Given the description of an element on the screen output the (x, y) to click on. 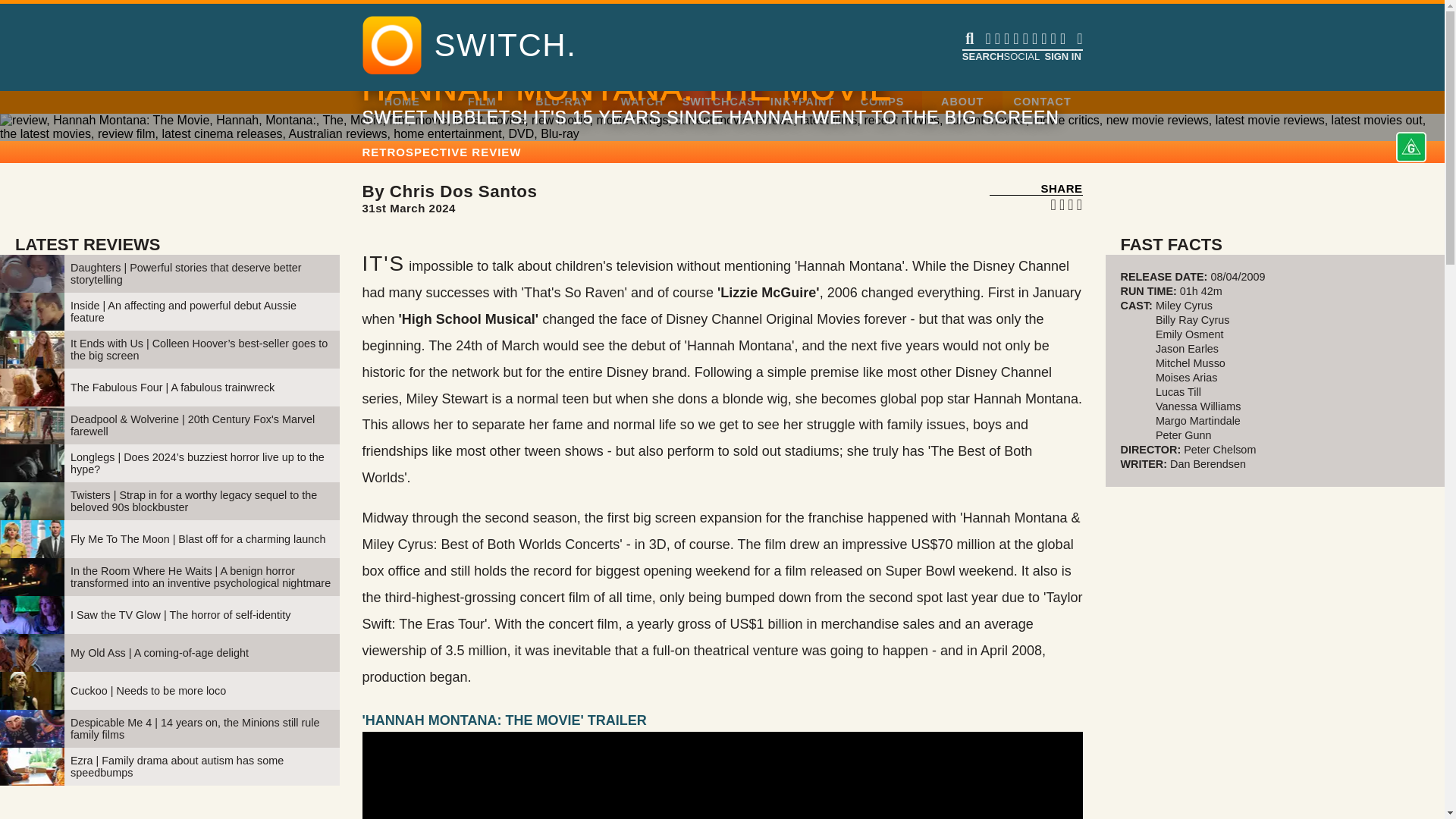
SWITCH. (504, 45)
FILM (481, 102)
HOME (402, 101)
SIGN IN (771, 199)
SWITCHCAST (722, 101)
BLU-RAY (561, 101)
ABOUT (962, 101)
WATCH (642, 101)
CONTACT (1041, 101)
SEARCH (981, 56)
